Given the description of an element on the screen output the (x, y) to click on. 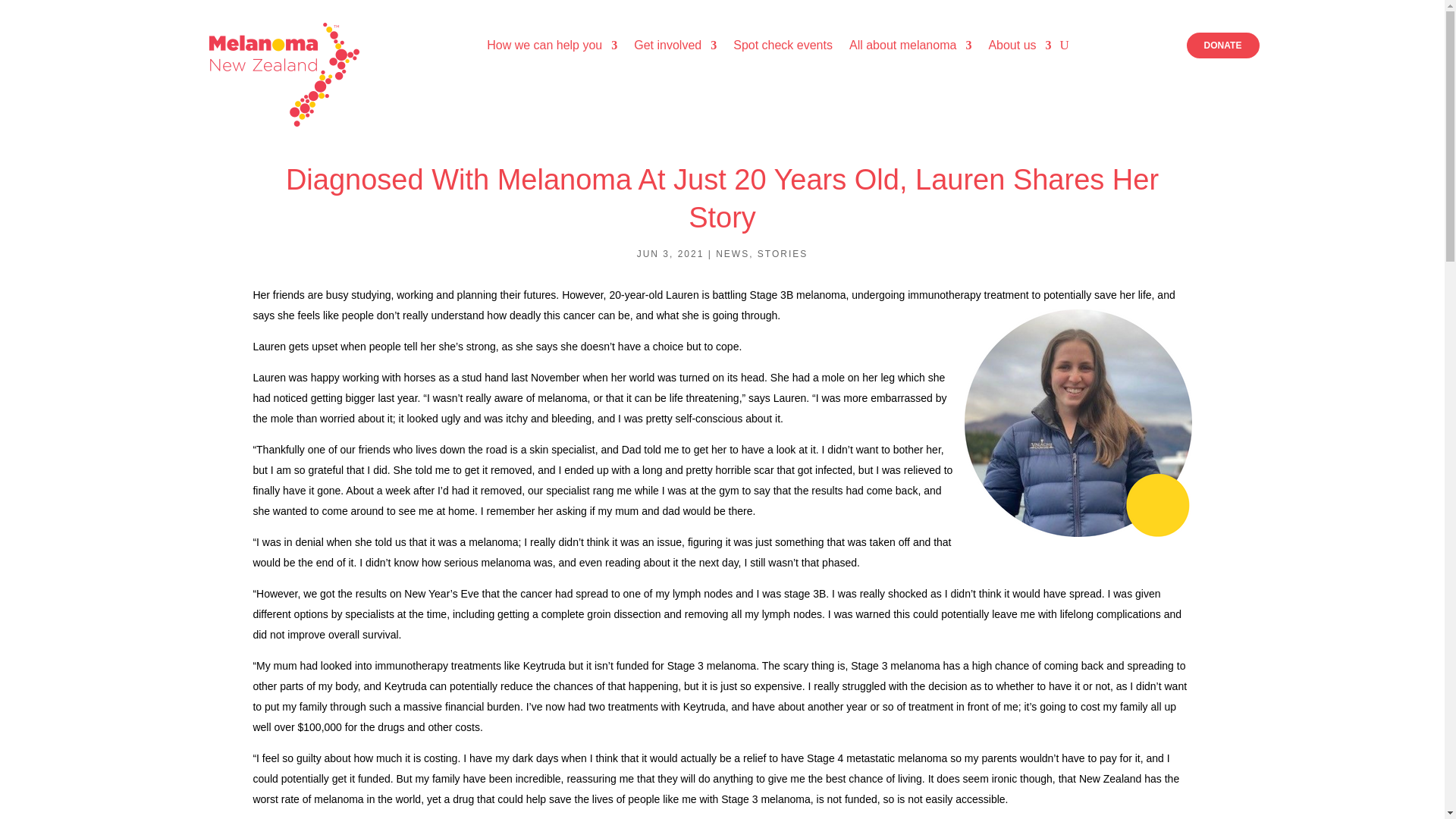
DONATE (1222, 45)
Get involved (674, 45)
Spot check events (782, 45)
NEWS (732, 253)
How we can help you (551, 45)
All about melanoma (909, 45)
STORIES (782, 253)
